Given the description of an element on the screen output the (x, y) to click on. 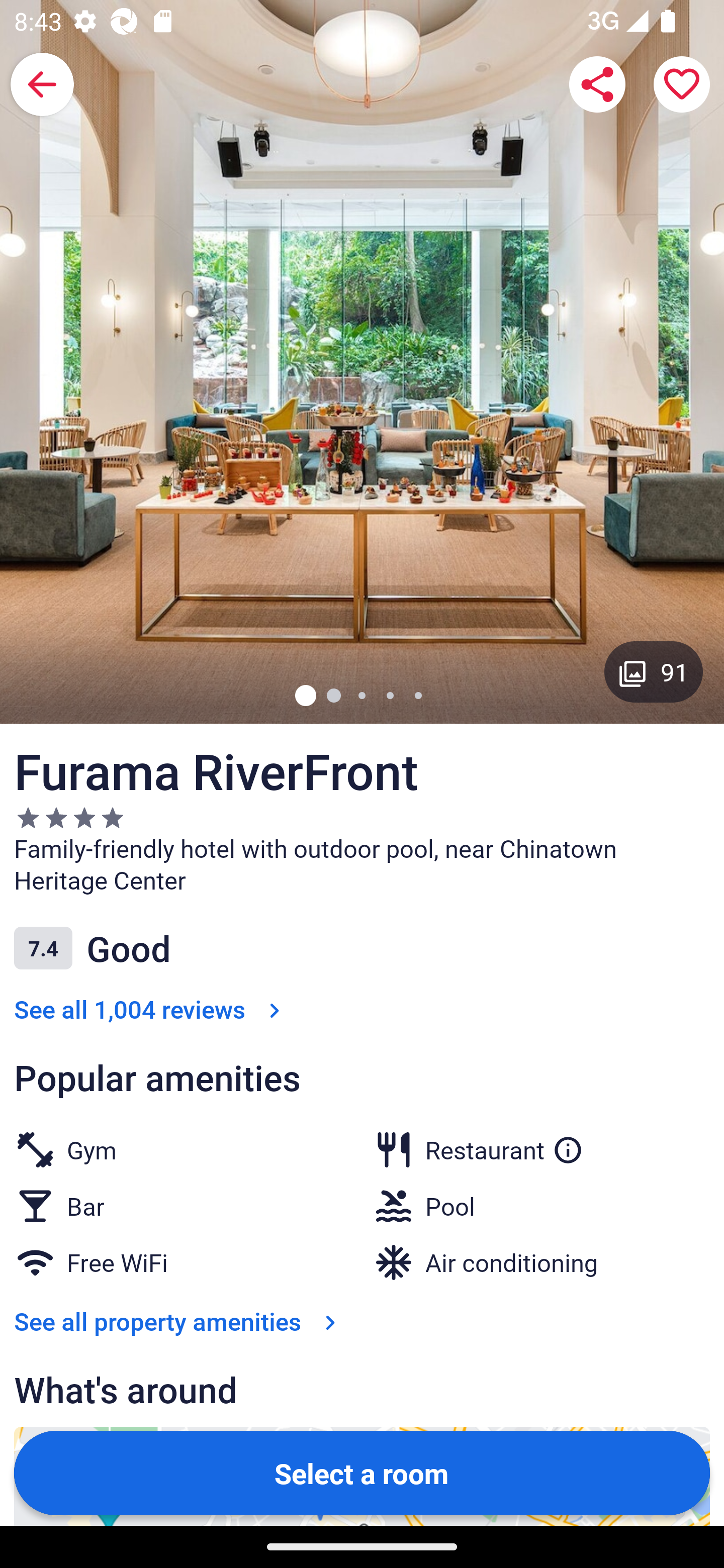
Back (42, 84)
Save property to a trip (681, 84)
Share Furama RiverFront (597, 84)
Gallery button with 91 images (653, 671)
See all 1,004 reviews See all 1,004 reviews Link (150, 1009)
Restaurant (504, 1146)
See all property amenities (178, 1321)
Select a room Button Select a room (361, 1472)
